Given the description of an element on the screen output the (x, y) to click on. 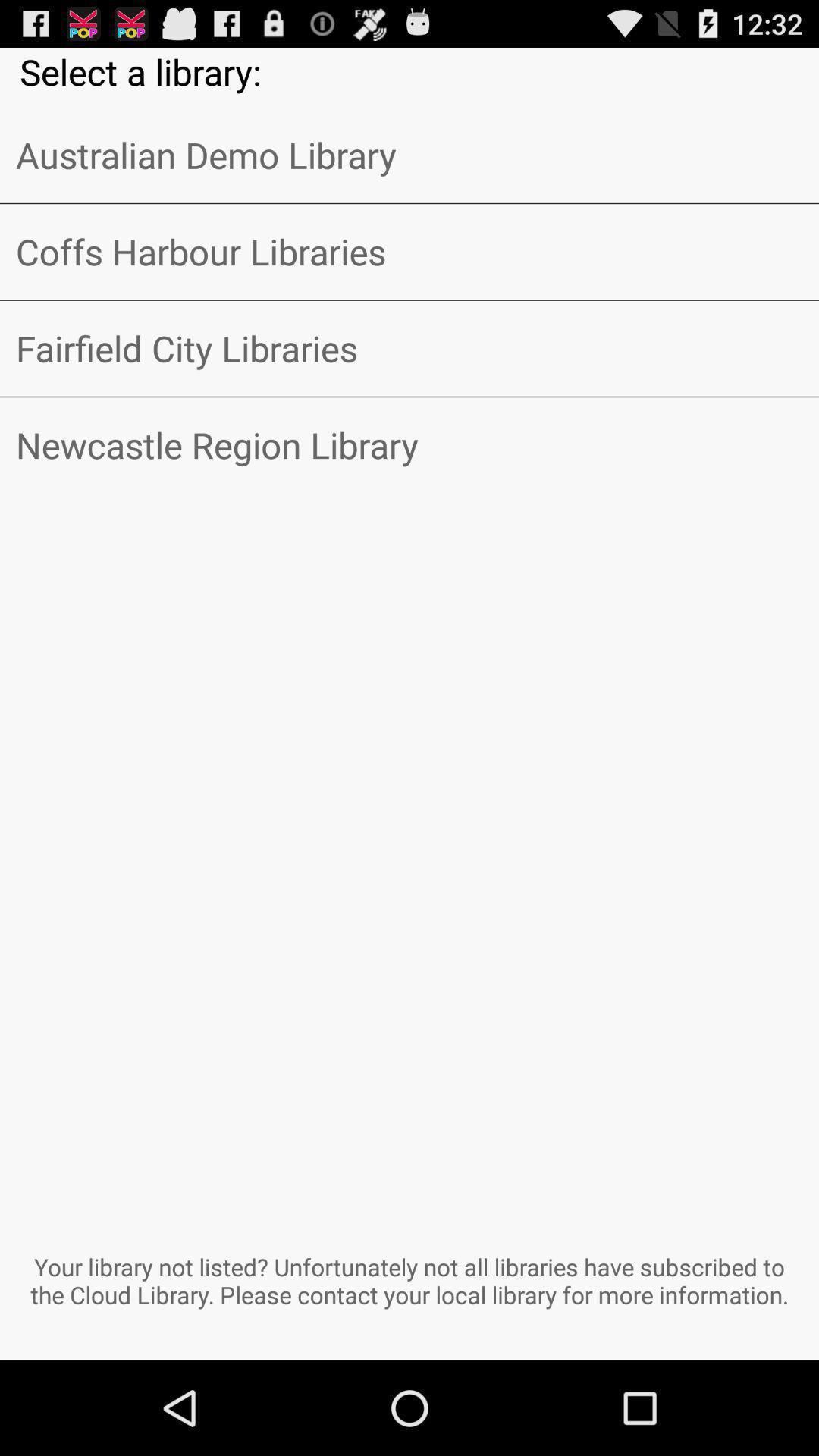
turn off item above fairfield city libraries (409, 251)
